Given the description of an element on the screen output the (x, y) to click on. 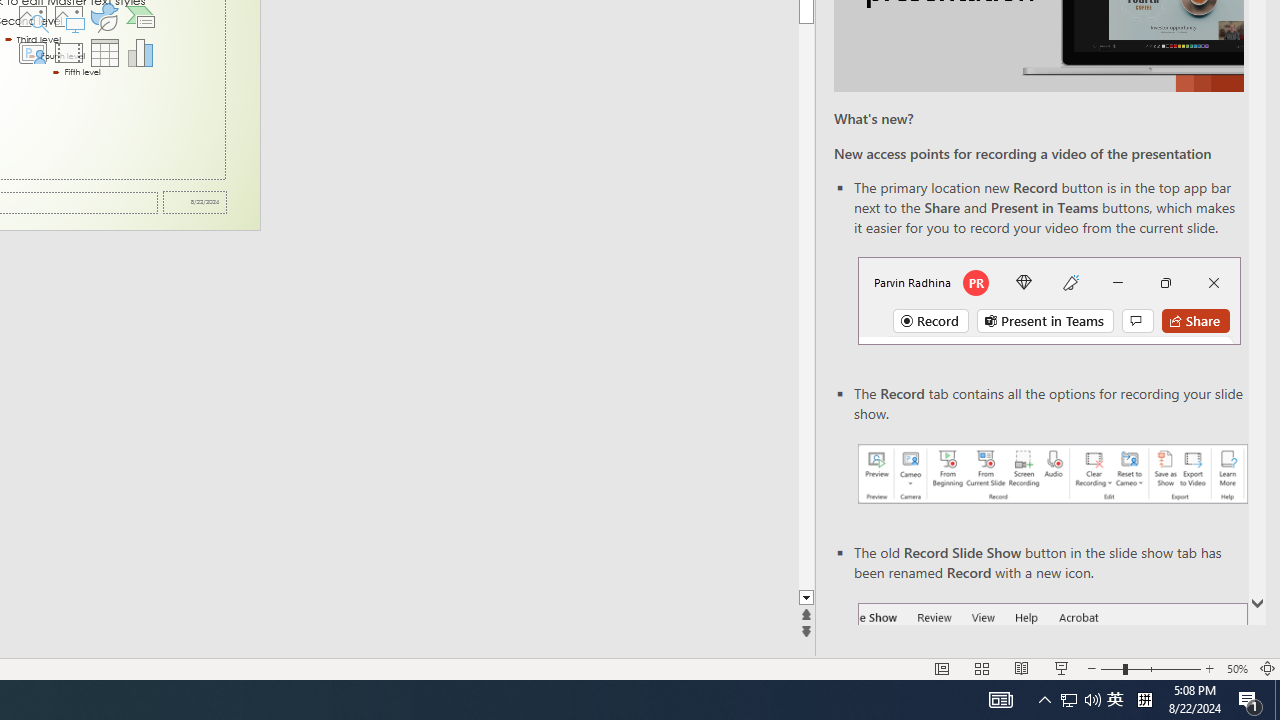
Insert Video (68, 52)
Date (194, 201)
Zoom 50% (1236, 668)
Record button in top bar (1049, 300)
Insert Table (105, 52)
Page down (806, 306)
